Given the description of an element on the screen output the (x, y) to click on. 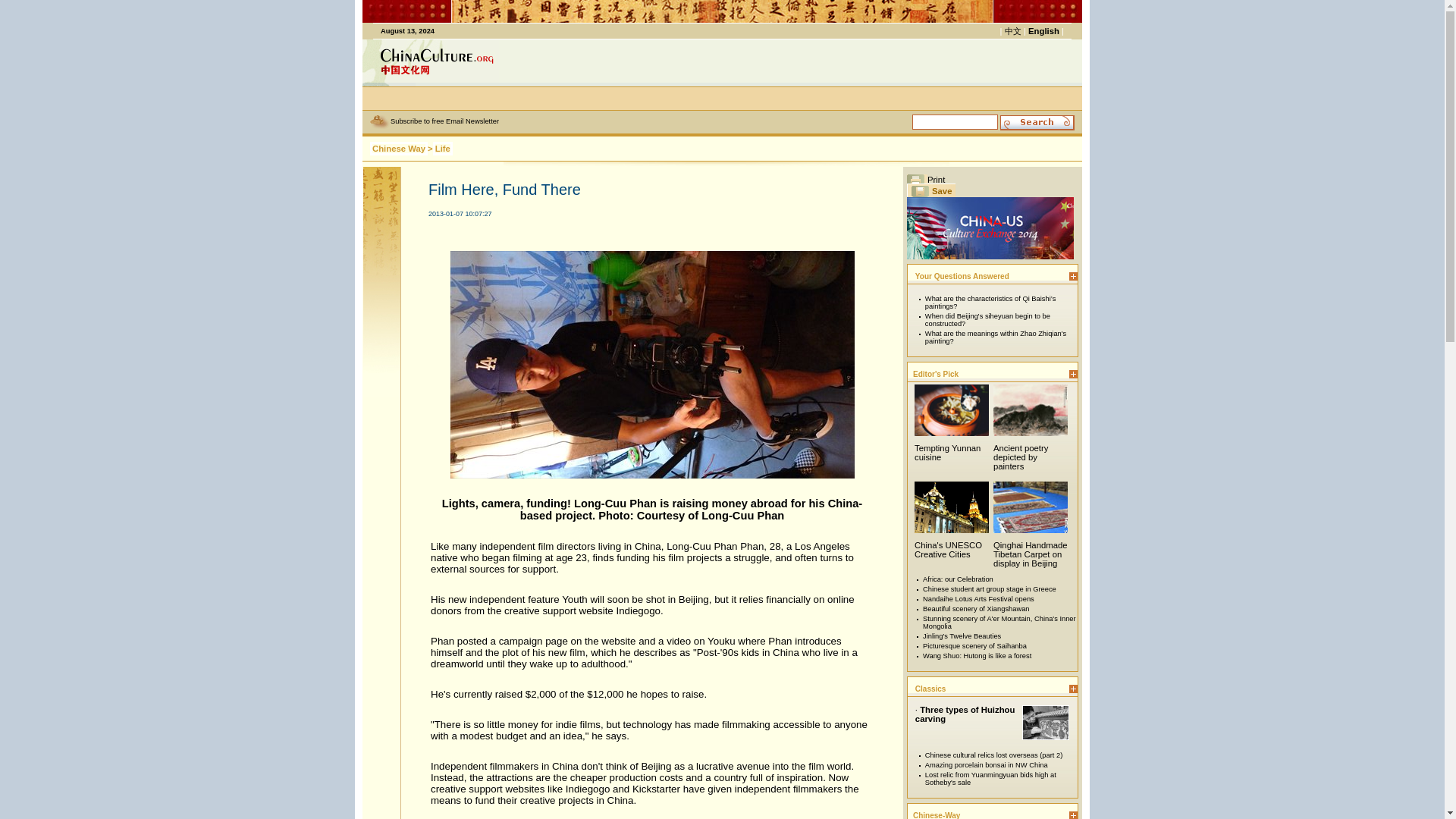
Chinese Way (398, 148)
Print (925, 178)
Subscribe to free Email Newsletter (444, 121)
English (1043, 30)
Life (442, 148)
Save (931, 190)
